Given the description of an element on the screen output the (x, y) to click on. 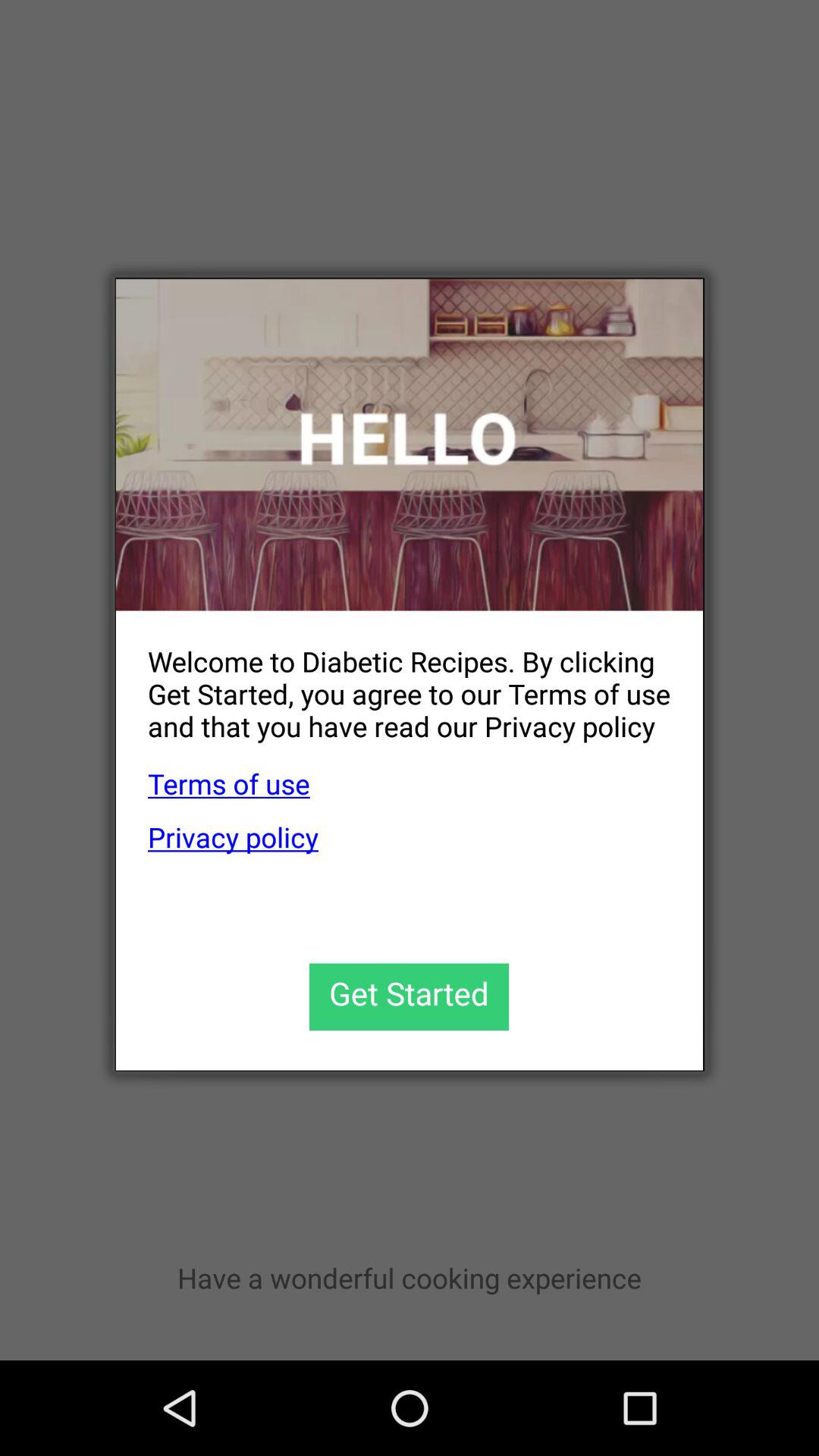
tap welcome to diabetic app (393, 681)
